Given the description of an element on the screen output the (x, y) to click on. 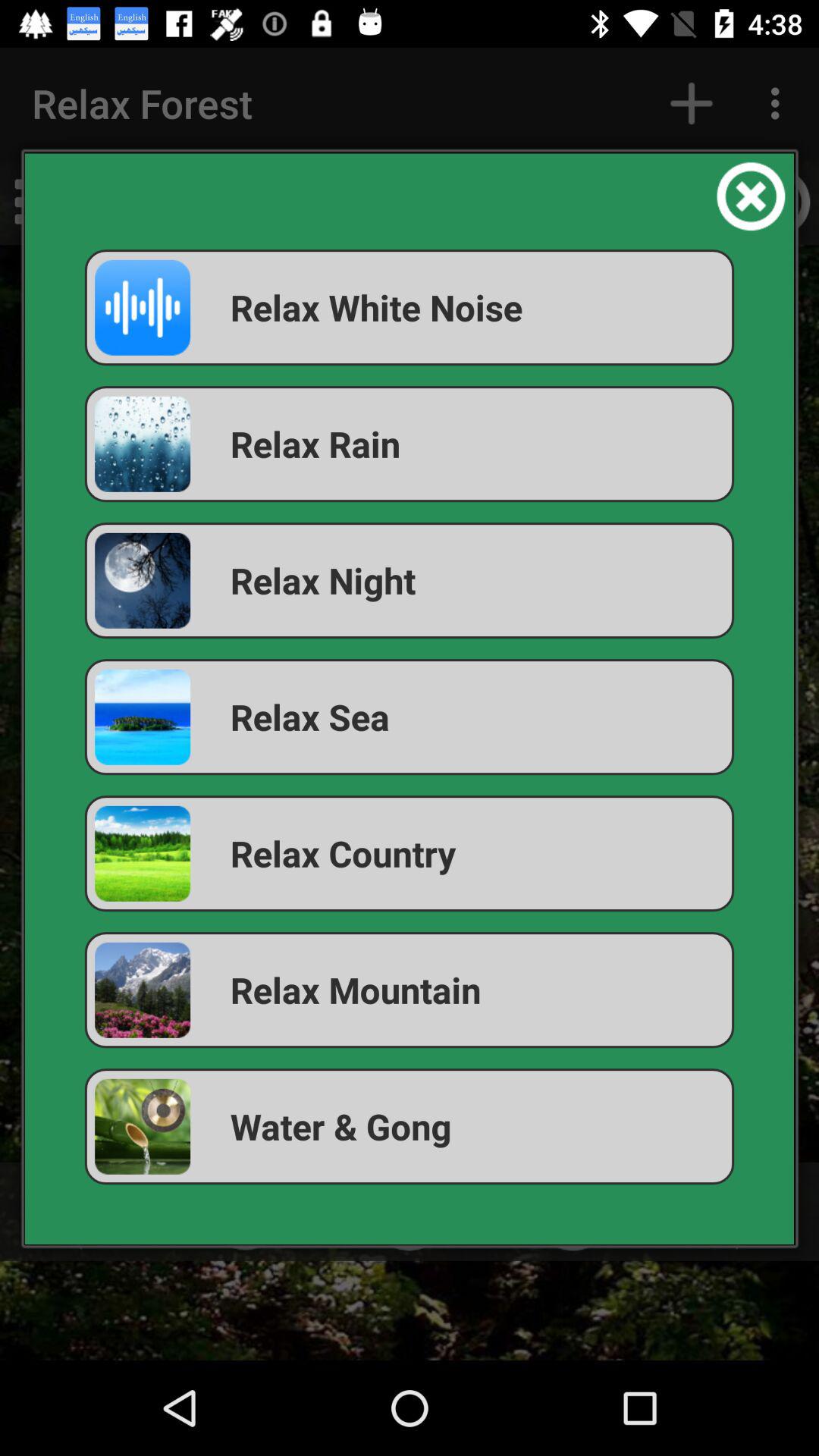
press the relax night (409, 580)
